Given the description of an element on the screen output the (x, y) to click on. 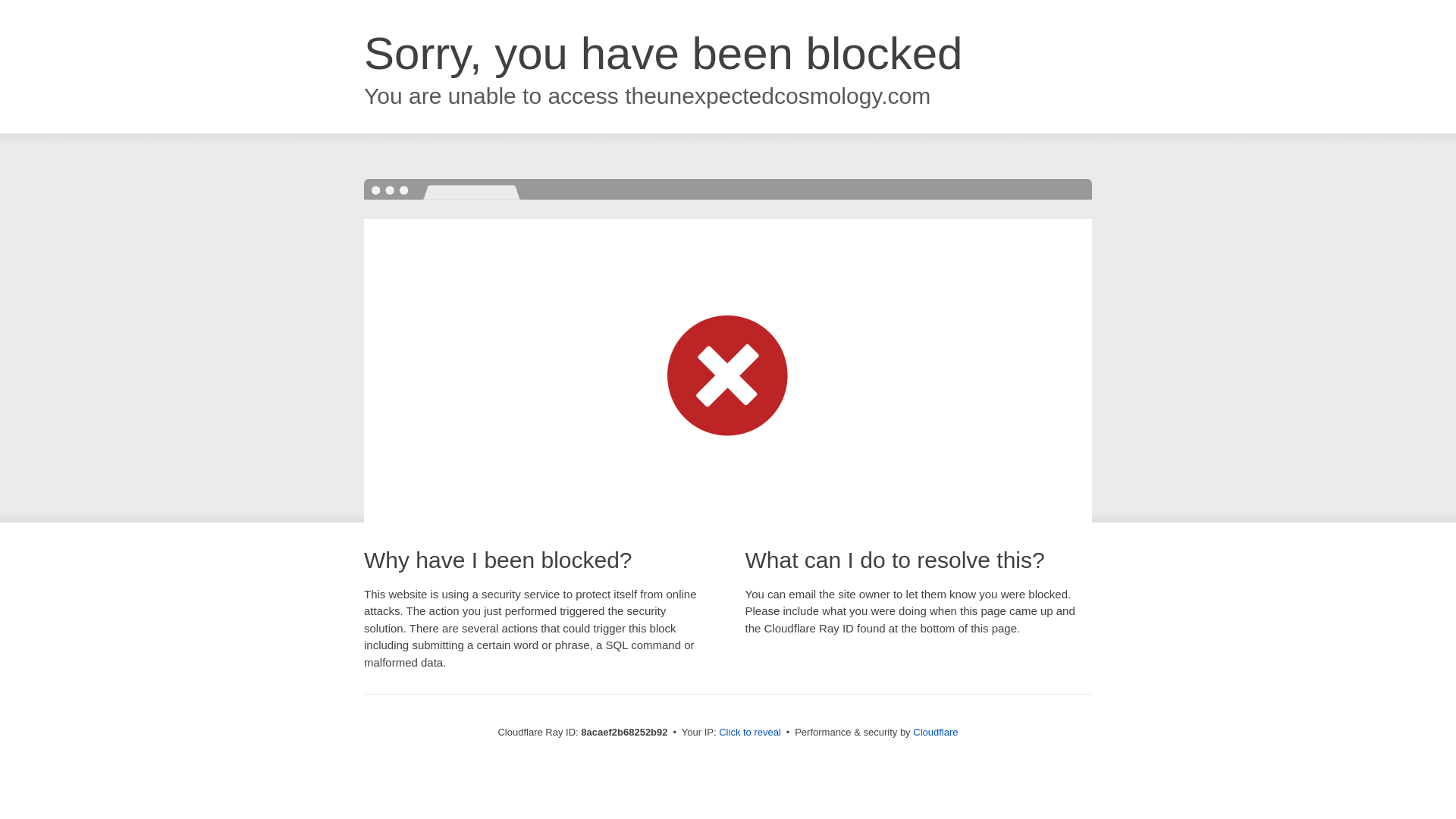
Cloudflare (935, 731)
Click to reveal (749, 732)
